Given the description of an element on the screen output the (x, y) to click on. 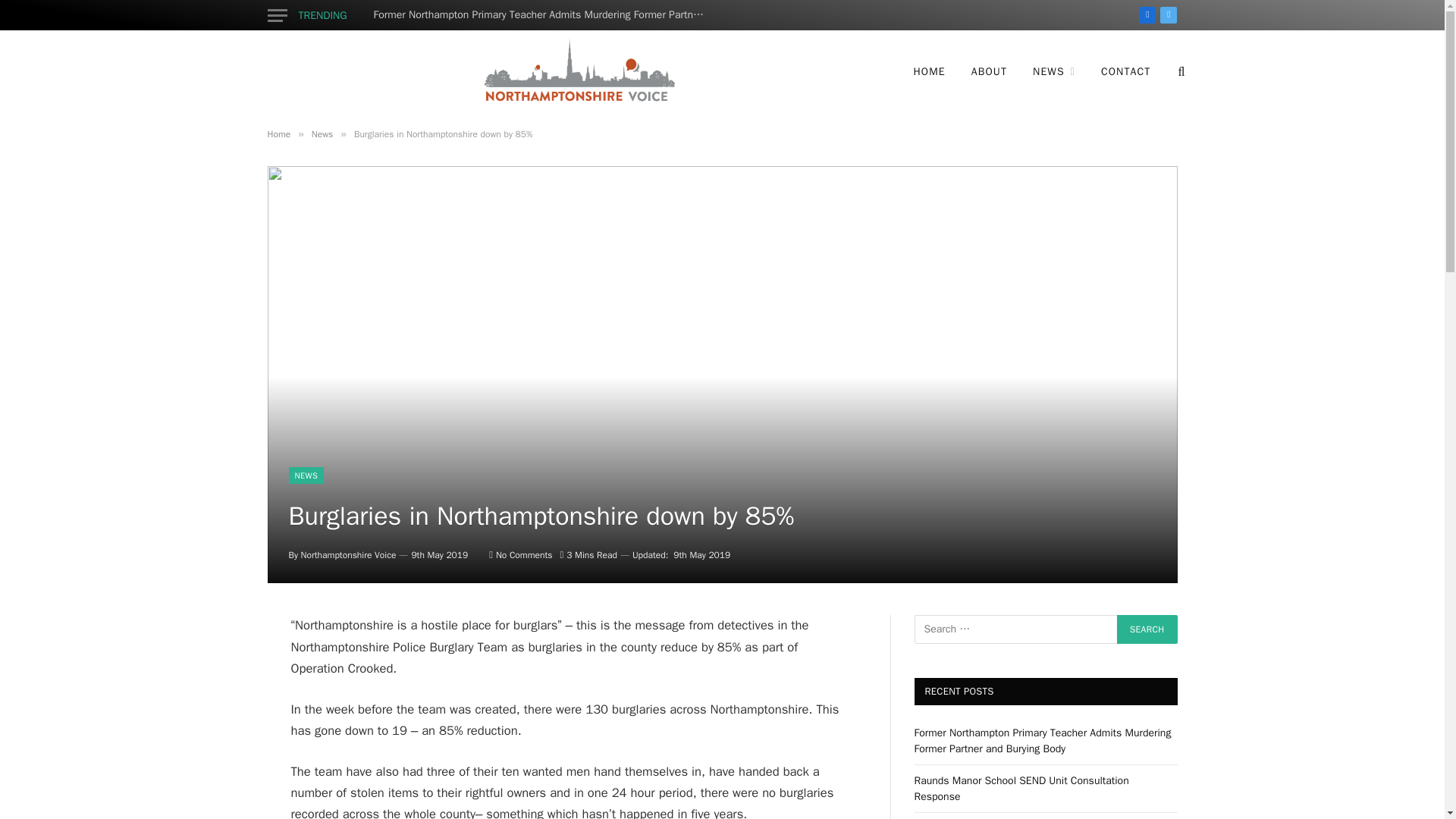
Northamptonshire Voice (577, 71)
Facebook (1147, 14)
Twitter (1168, 14)
Search (1146, 629)
Search (1146, 629)
